Given the description of an element on the screen output the (x, y) to click on. 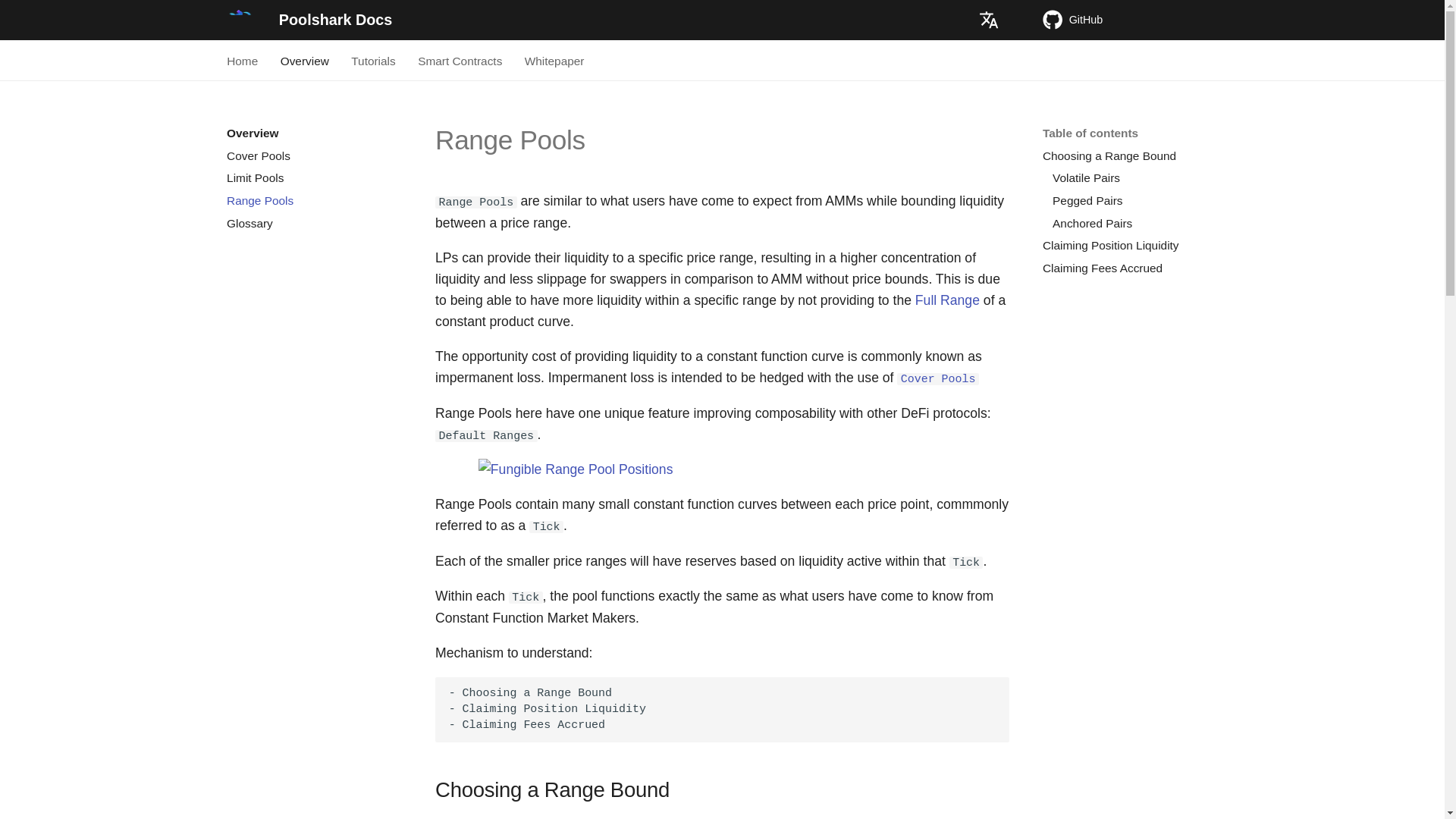
Pegged Pairs (1133, 200)
Poolshark Docs (239, 19)
Cover Pools (312, 155)
Range Pools (312, 200)
Volatile Pairs (1133, 177)
Overview (312, 133)
Overview (305, 60)
Anchored Pairs (1133, 223)
Glossary (312, 223)
GitHub (1129, 20)
Go to repository (1129, 20)
Whitepaper (554, 60)
Limit Pools (312, 177)
